Given the description of an element on the screen output the (x, y) to click on. 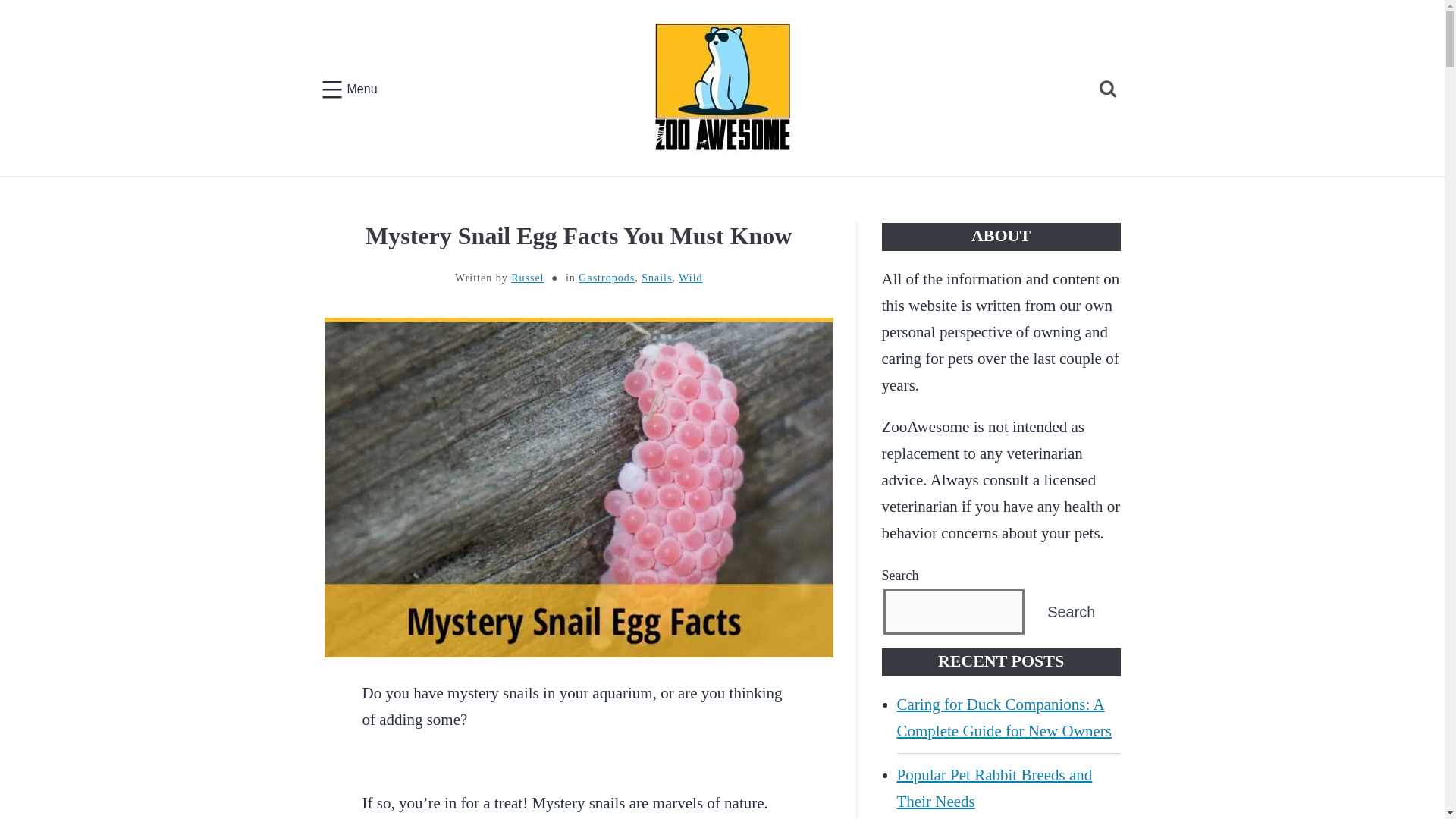
Category Name (656, 277)
Category Name (606, 277)
Search (48, 24)
Gastropods (606, 277)
Snails (656, 277)
Search (1070, 611)
Popular Pet Rabbit Breeds and Their Needs (1007, 788)
Category Name (689, 277)
Search for: (1107, 88)
Wild (689, 277)
